Given the description of an element on the screen output the (x, y) to click on. 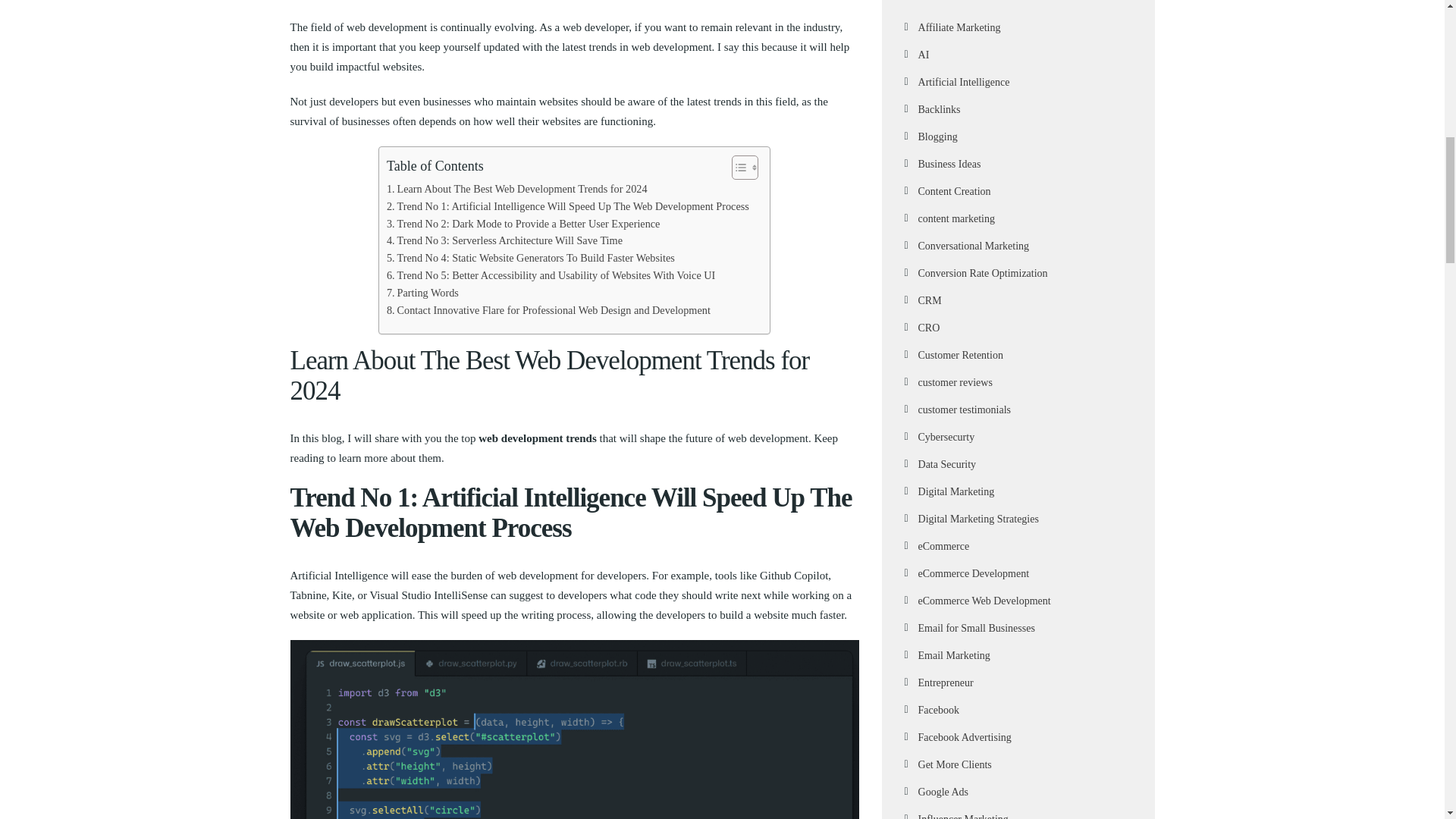
Learn About The Best Web Development Trends for 2024 (517, 189)
Parting Words (422, 293)
Learn About The Best Web Development Trends for 2024 (517, 189)
